Given the description of an element on the screen output the (x, y) to click on. 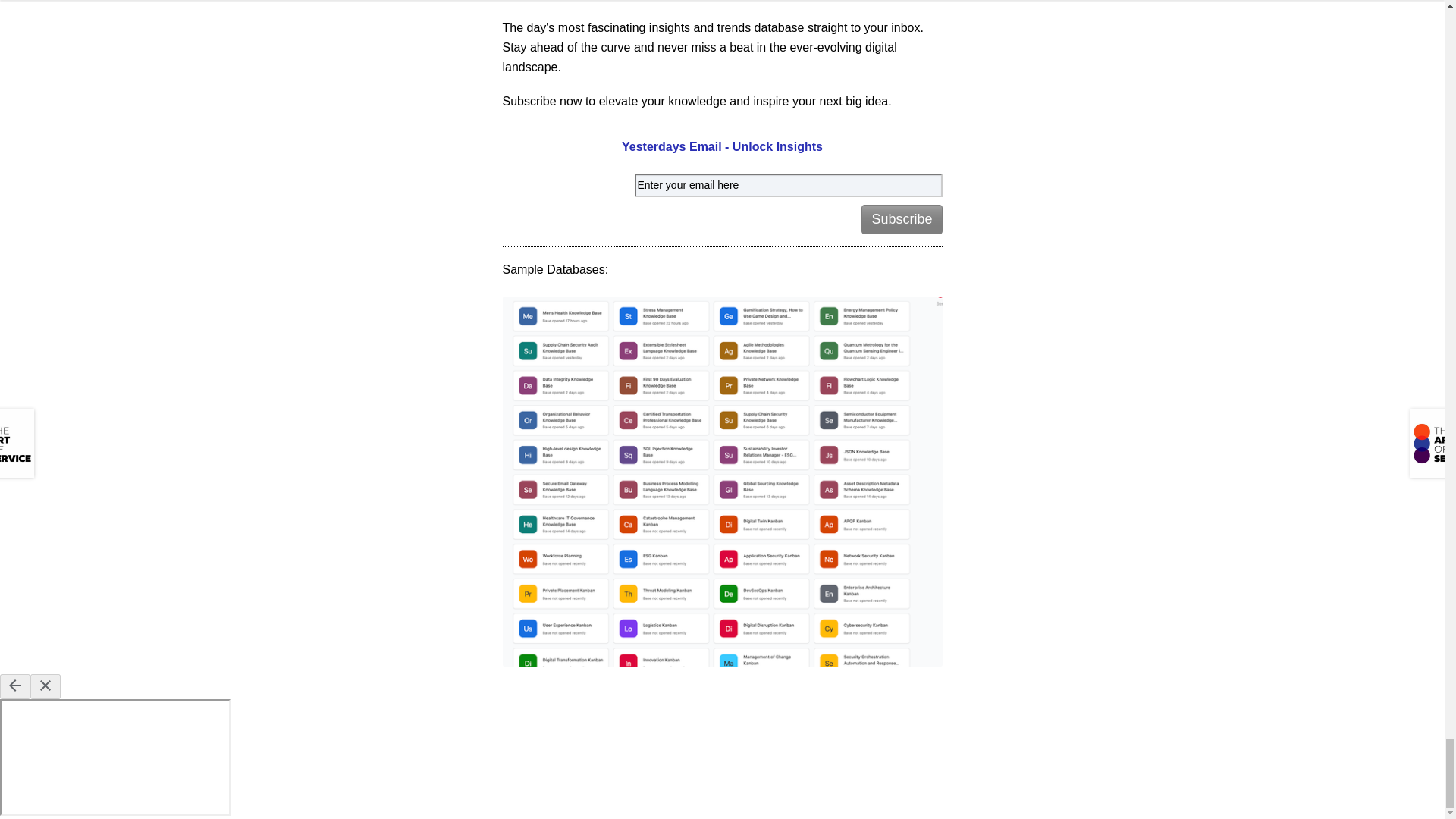
Subscribe (901, 219)
Enter your email here (787, 185)
